Given the description of an element on the screen output the (x, y) to click on. 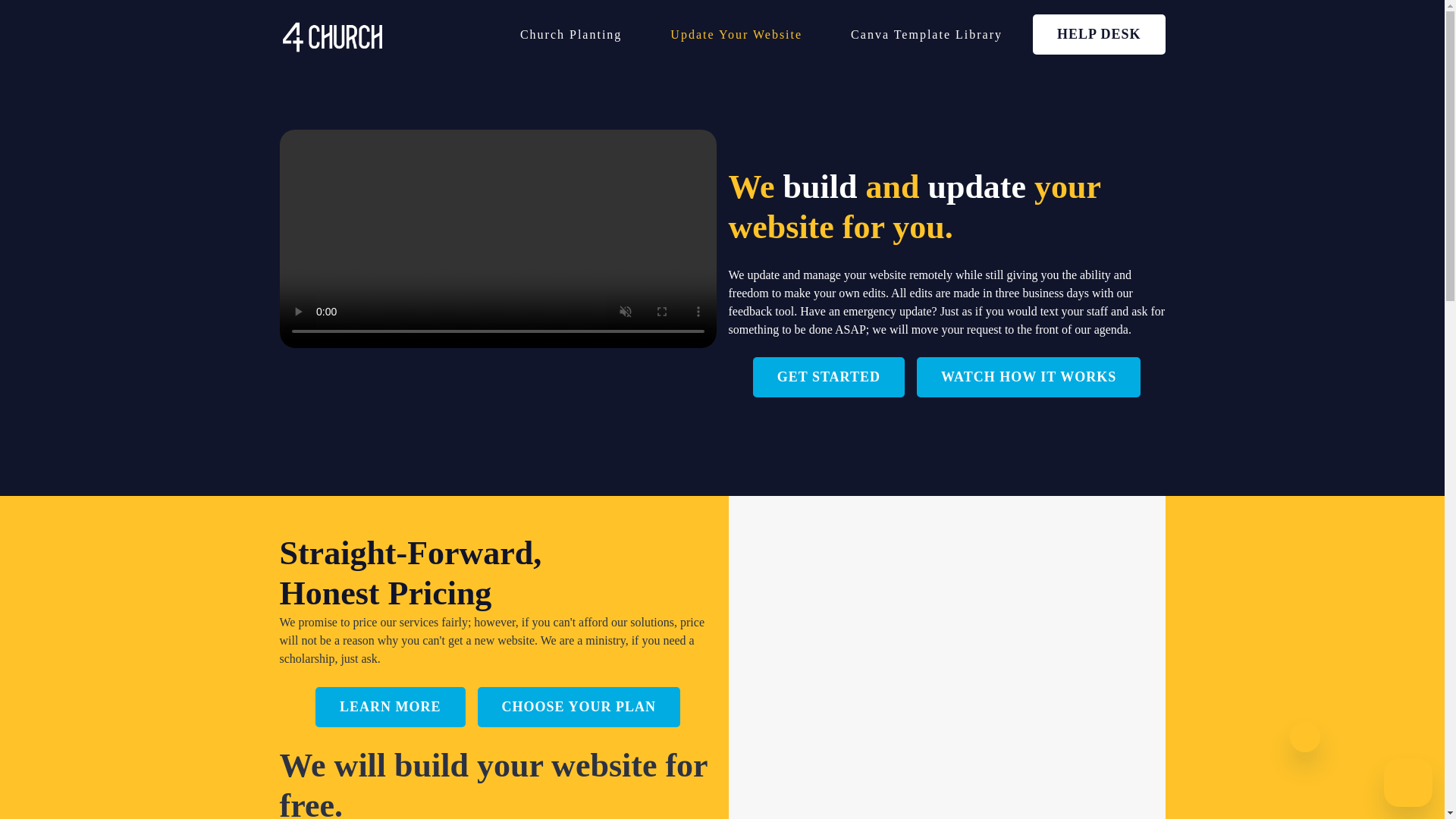
WATCH HOW IT WORKS (1028, 377)
CHOOSE YOUR PLAN (578, 707)
HELP DESK (1099, 34)
Canva Template Library (926, 34)
Update Your Website (735, 34)
GET STARTED (828, 377)
Church Planting (570, 34)
LEARN MORE (390, 707)
